Given the description of an element on the screen output the (x, y) to click on. 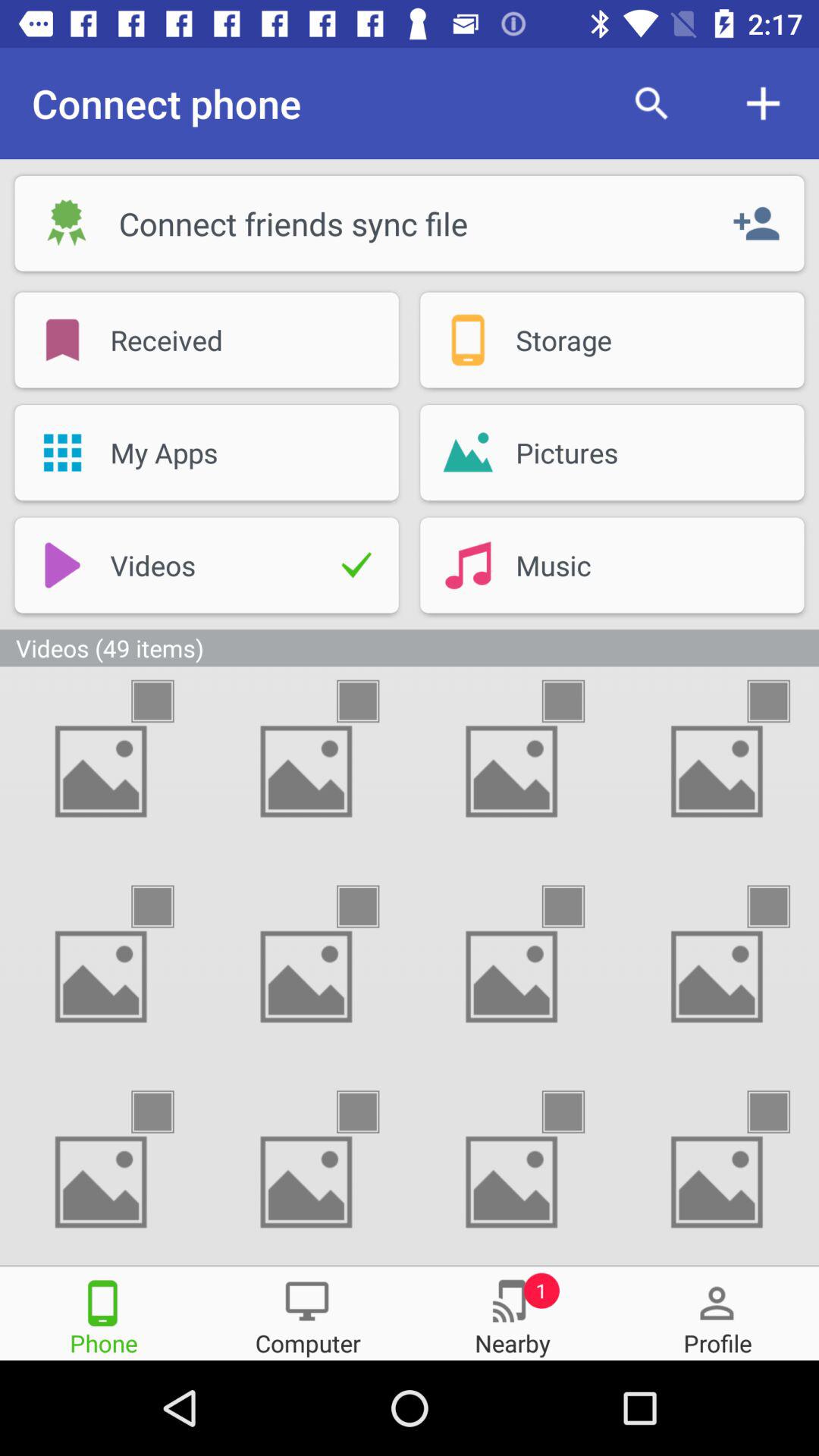
select video (782, 1111)
